Given the description of an element on the screen output the (x, y) to click on. 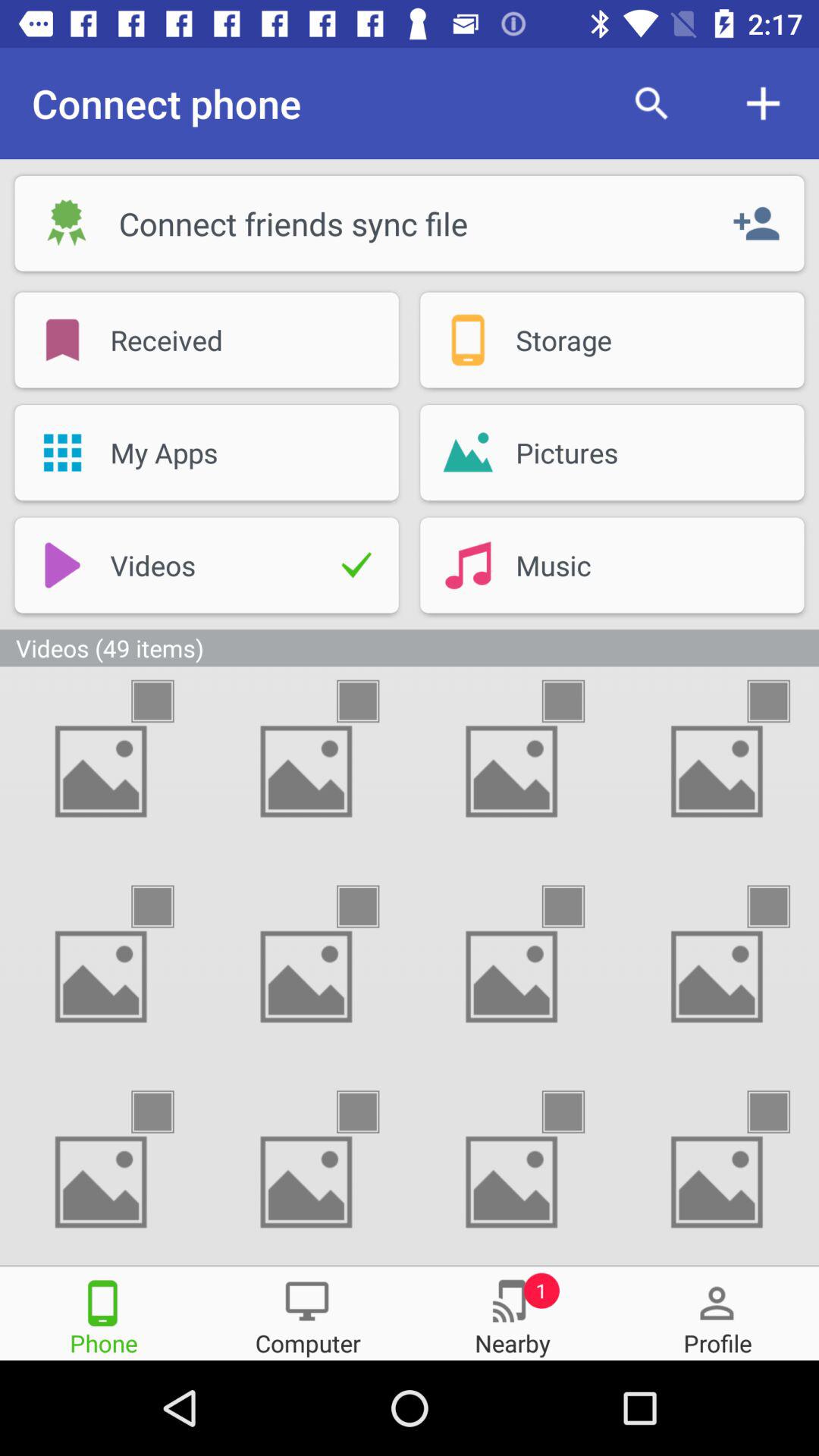
select video (782, 1111)
